Given the description of an element on the screen output the (x, y) to click on. 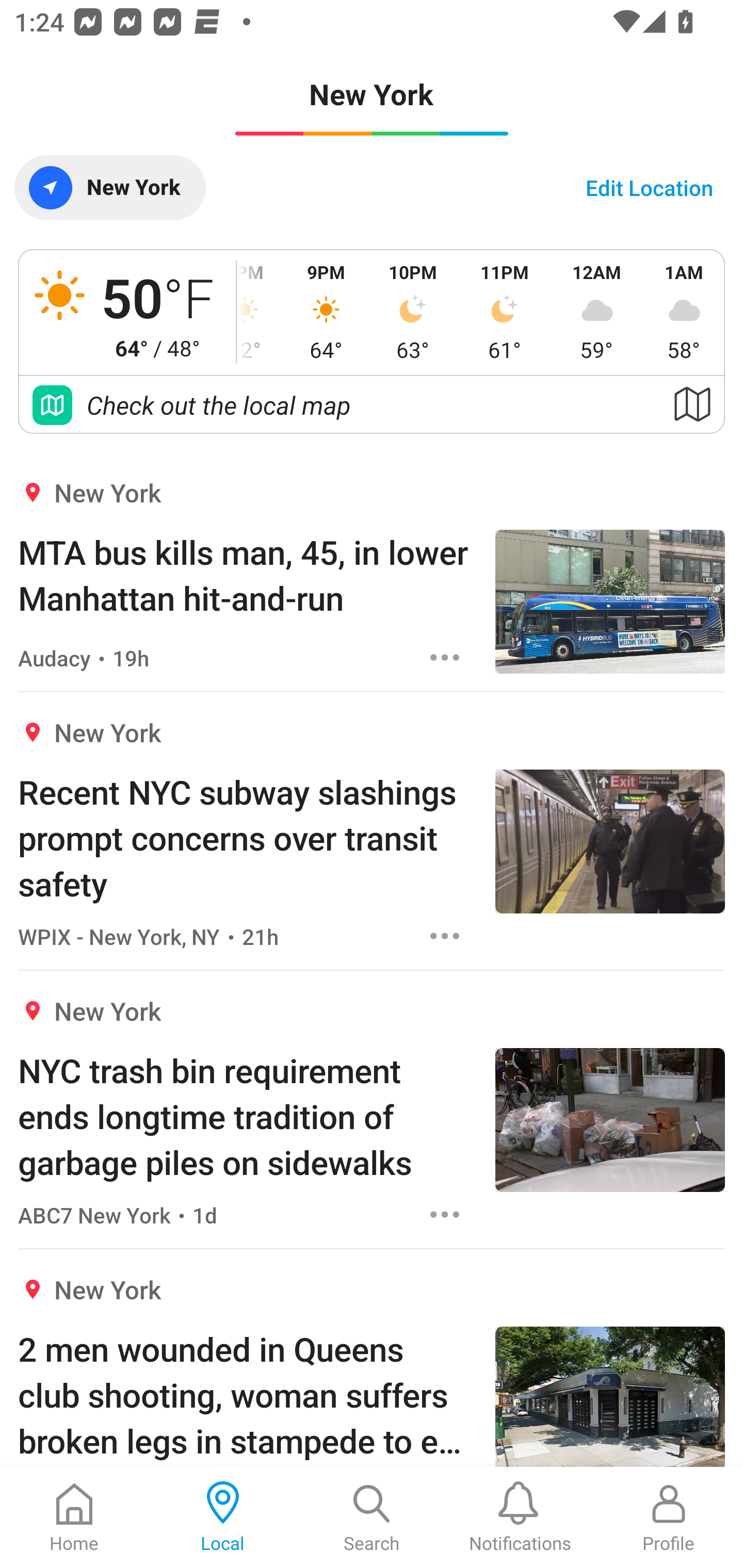
New York (109, 187)
Edit Location (648, 187)
8PM 62° (261, 311)
9PM 64° (326, 311)
10PM 63° (412, 311)
11PM 61° (504, 311)
12AM 59° (596, 311)
1AM 58° (683, 311)
Check out the local map (371, 405)
Options (444, 657)
Options (444, 936)
Options (444, 1214)
Home (74, 1517)
Search (371, 1517)
Notifications (519, 1517)
Profile (668, 1517)
